Given the description of an element on the screen output the (x, y) to click on. 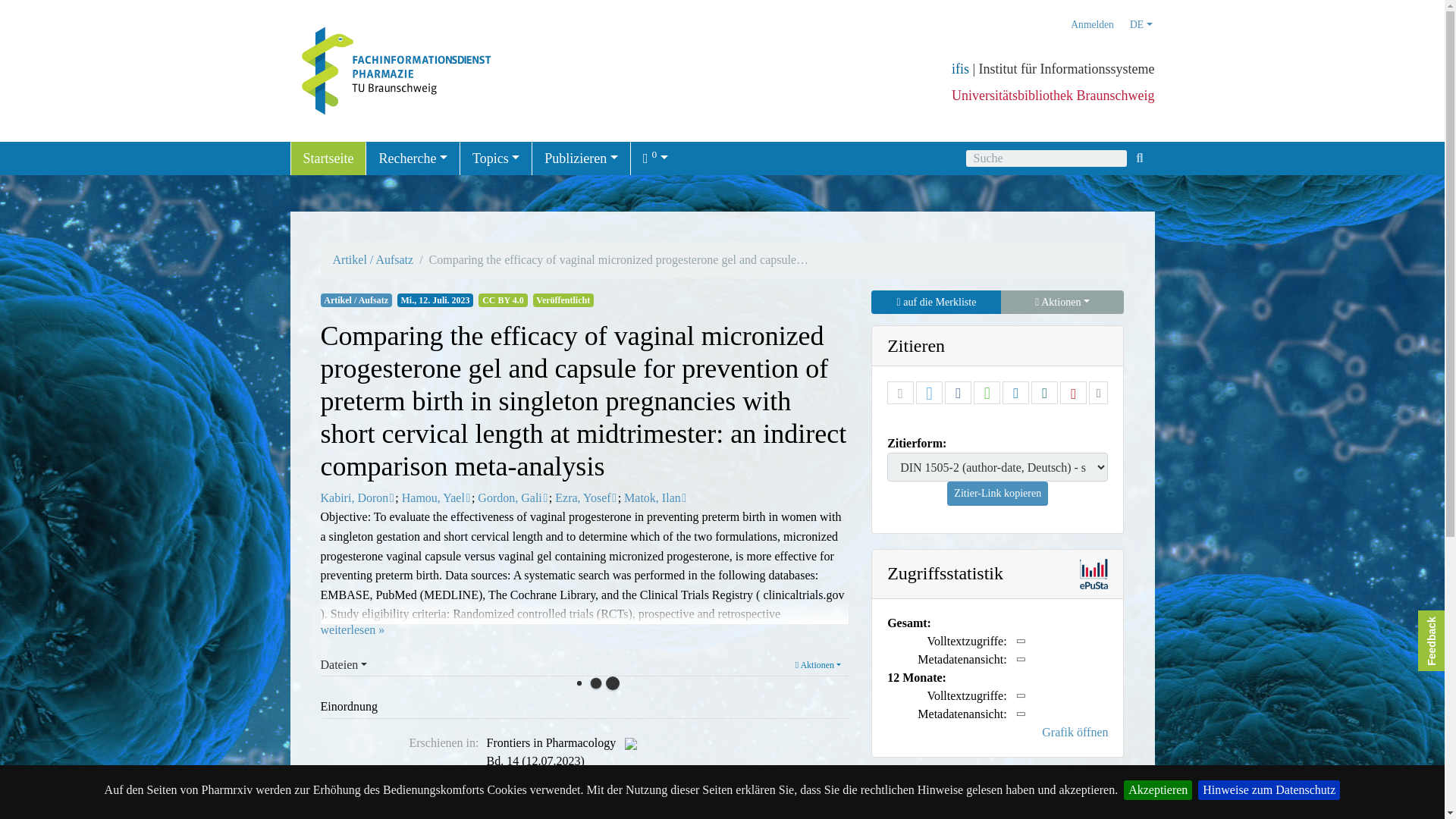
Auf ihrer Merkliste befinden sich keine Dokumente. (654, 157)
Bei Facebook teilen (957, 393)
read more (352, 629)
Publikationsstatus (563, 299)
Sprache wechseln (1140, 25)
Hamou, Yael (432, 497)
Bei Whatsapp teilen (986, 393)
Publication date (438, 298)
Recherche (412, 157)
0 (654, 157)
CC BY 4.0 (503, 299)
DE (1140, 25)
Bei Twitter teilen (929, 393)
Akzeptieren (1158, 790)
Startseite (327, 157)
